Given the description of an element on the screen output the (x, y) to click on. 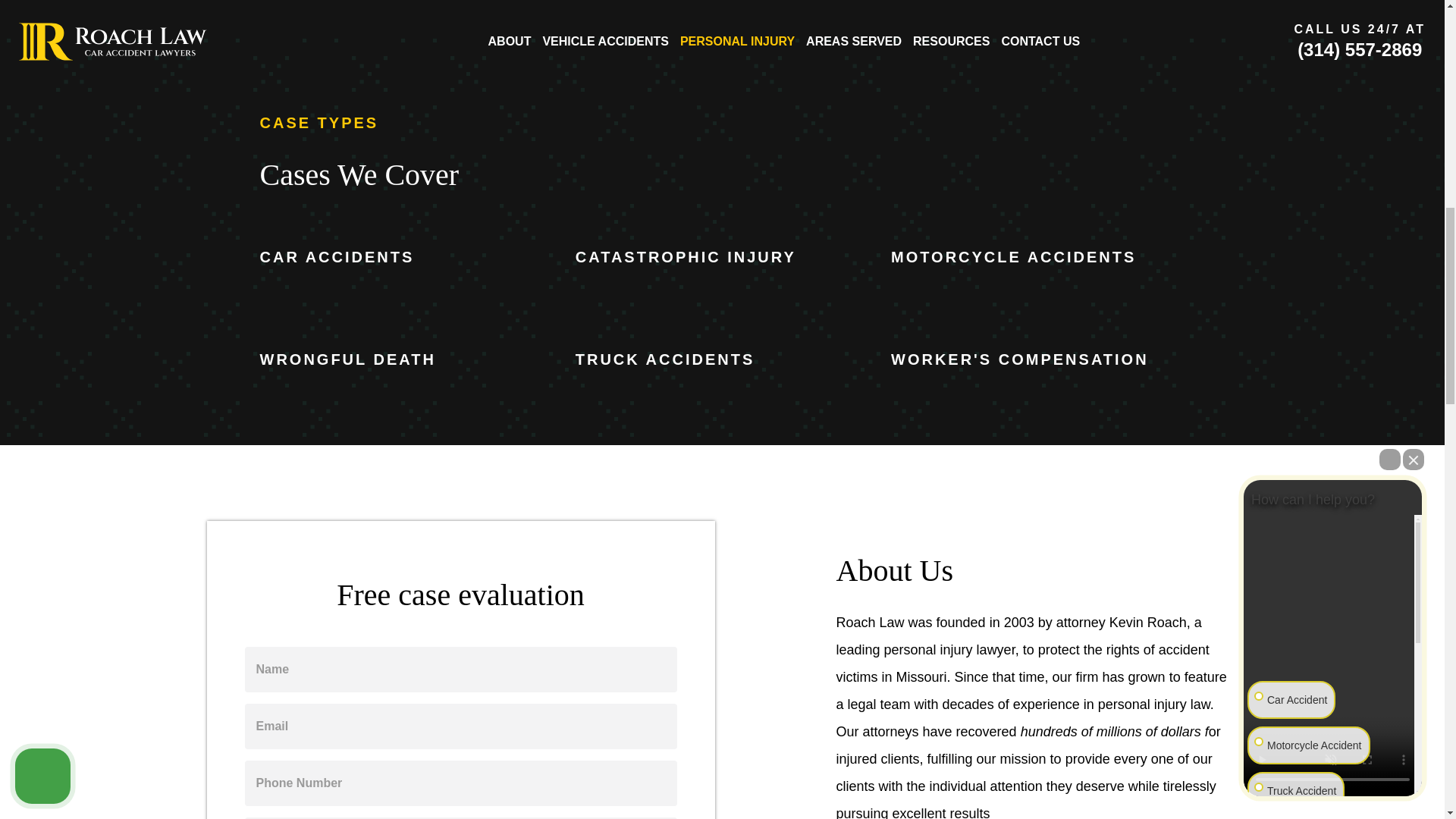
CATASTROPHIC INJURY (685, 256)
CAR ACCIDENTS (336, 256)
